Given the description of an element on the screen output the (x, y) to click on. 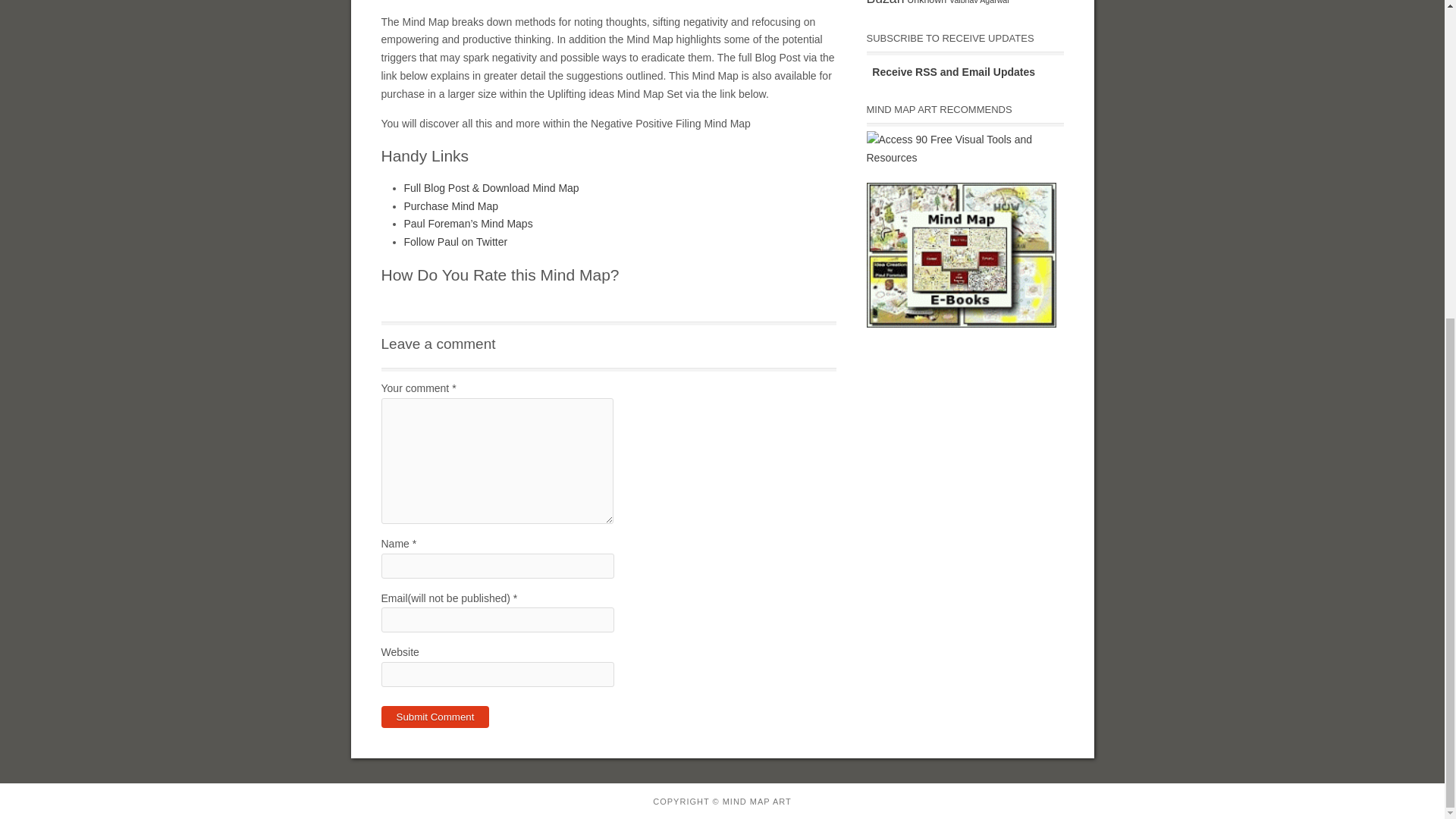
Mind Map eBooks by Paul Foreman (960, 254)
Submit Comment (434, 716)
